Given the description of an element on the screen output the (x, y) to click on. 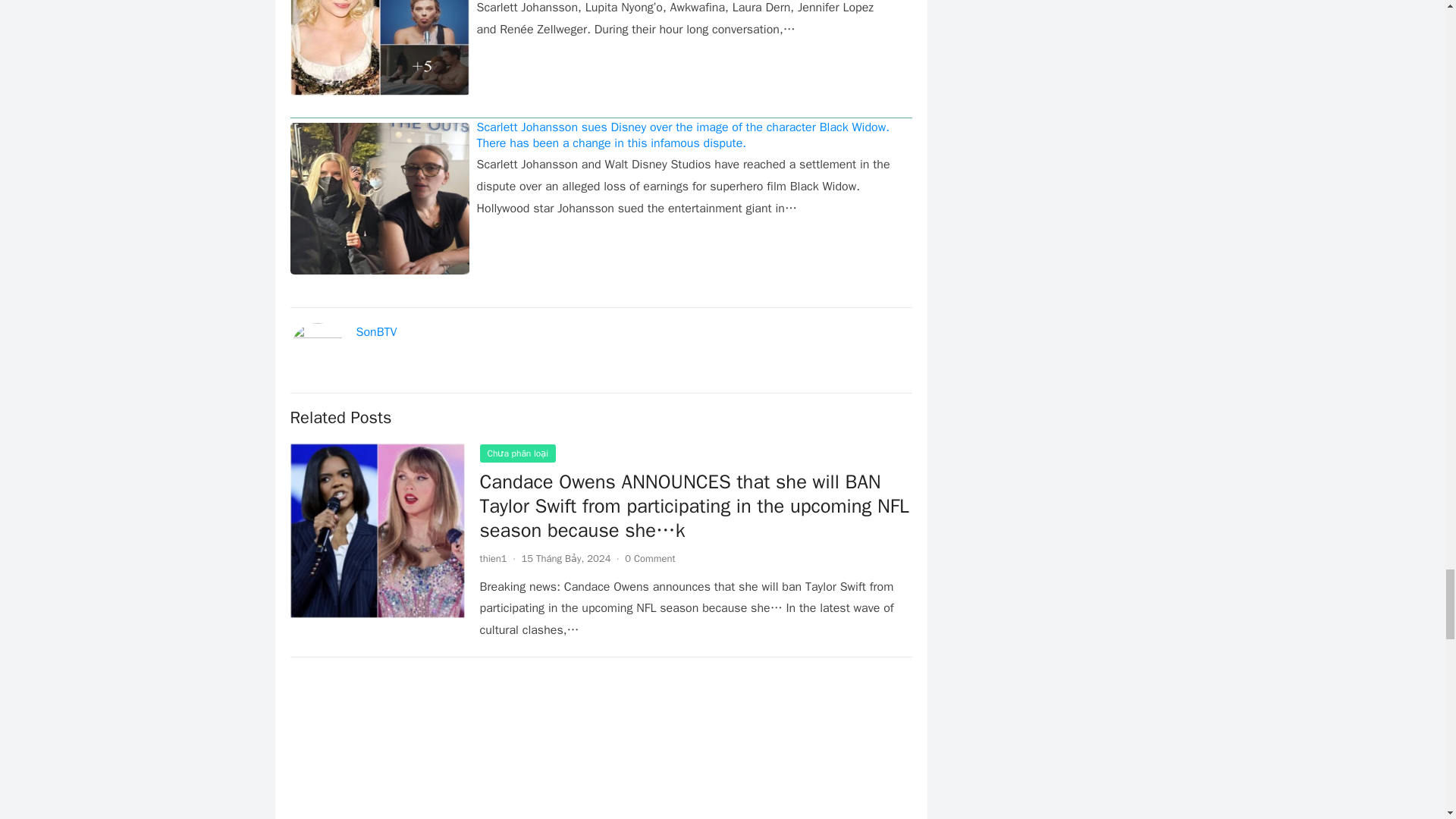
0 Comment (649, 558)
SonBTV (376, 331)
thien1 (492, 558)
